Given the description of an element on the screen output the (x, y) to click on. 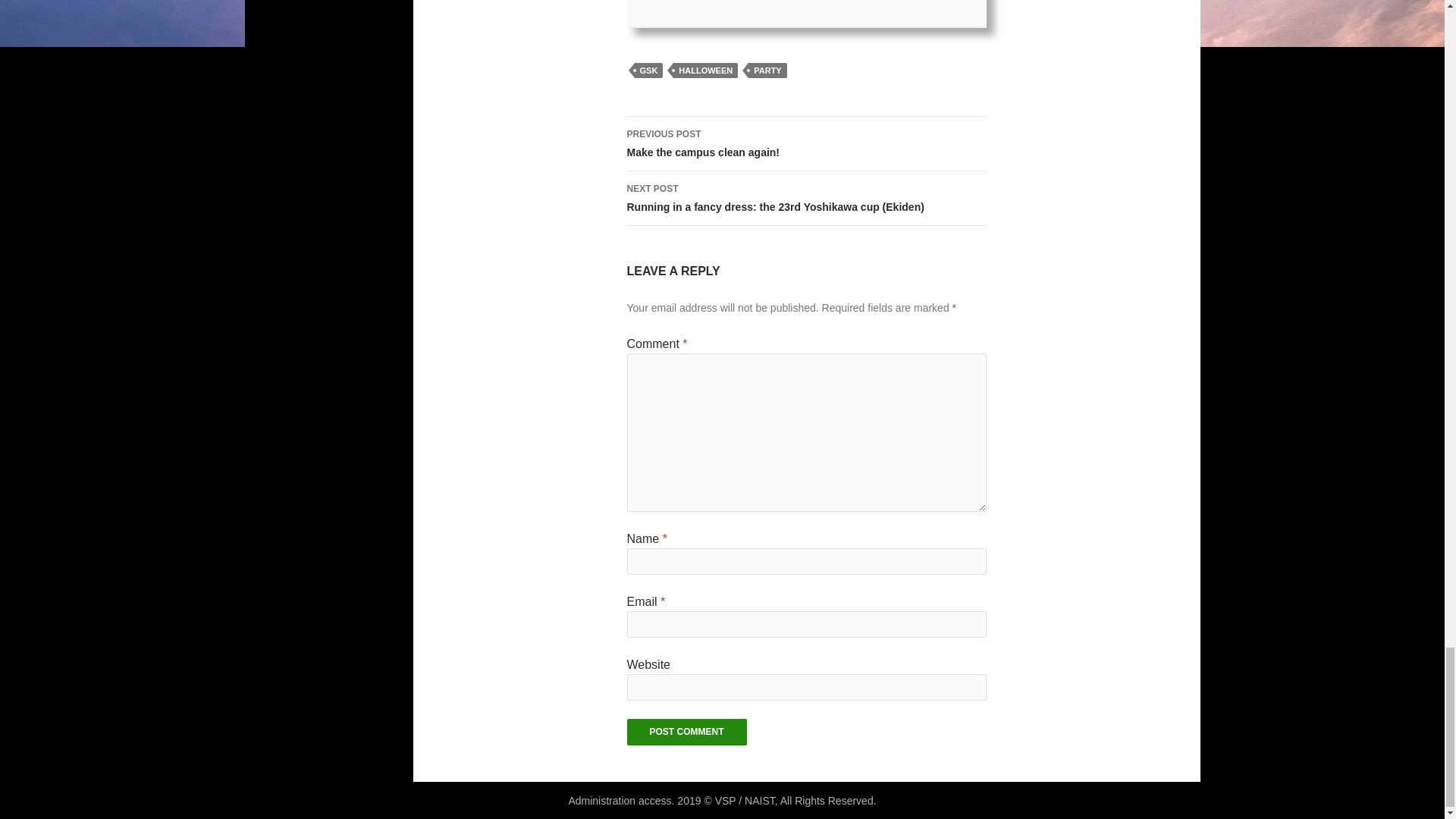
Post Comment (685, 732)
Administration access (805, 144)
Post Comment (619, 800)
HALLOWEEN (685, 732)
PARTY (705, 70)
GSK (767, 70)
